Given the description of an element on the screen output the (x, y) to click on. 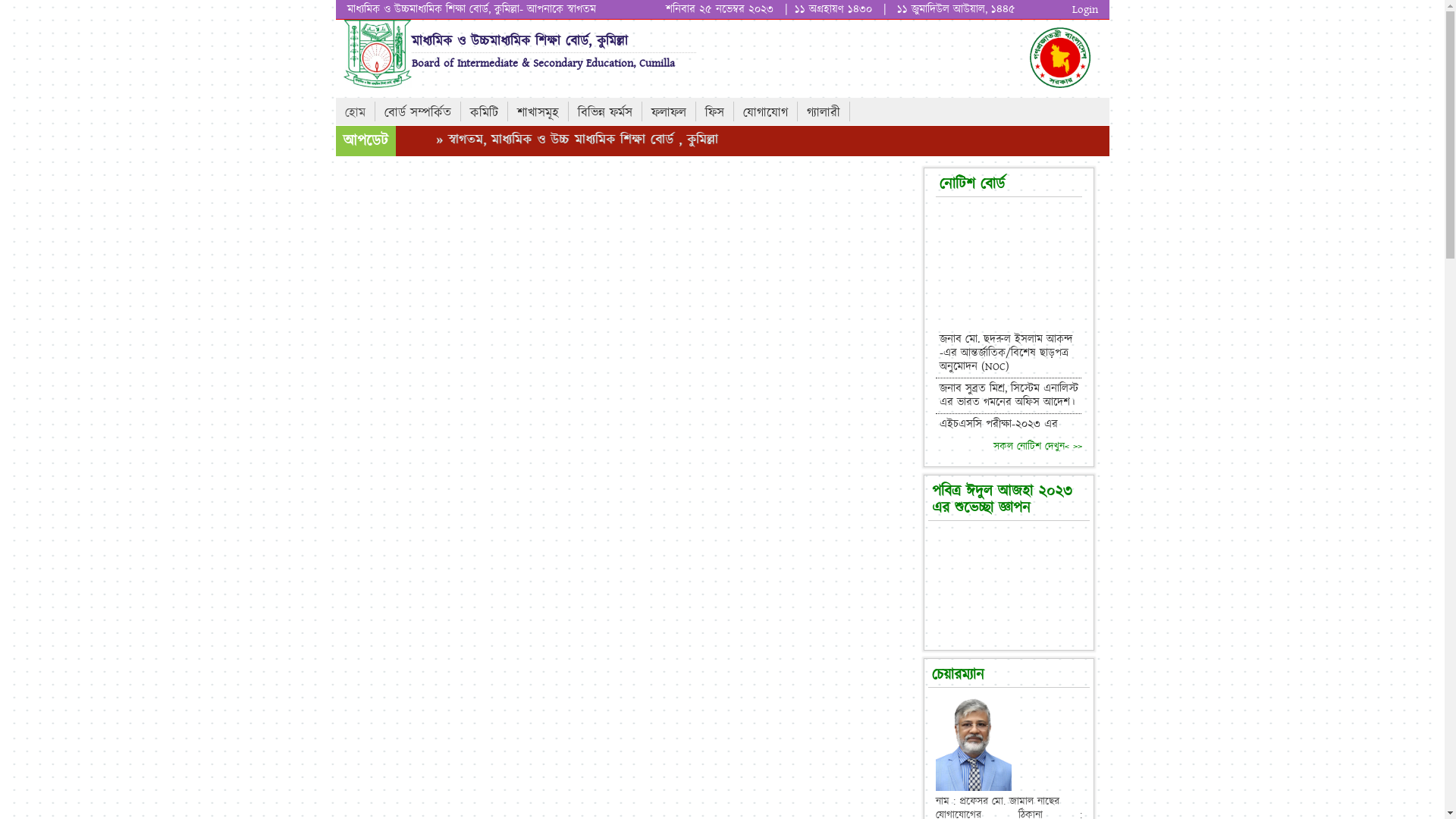
YouTube video player Element type: hover (1008, 585)
Login Element type: text (1085, 9)
